Given the description of an element on the screen output the (x, y) to click on. 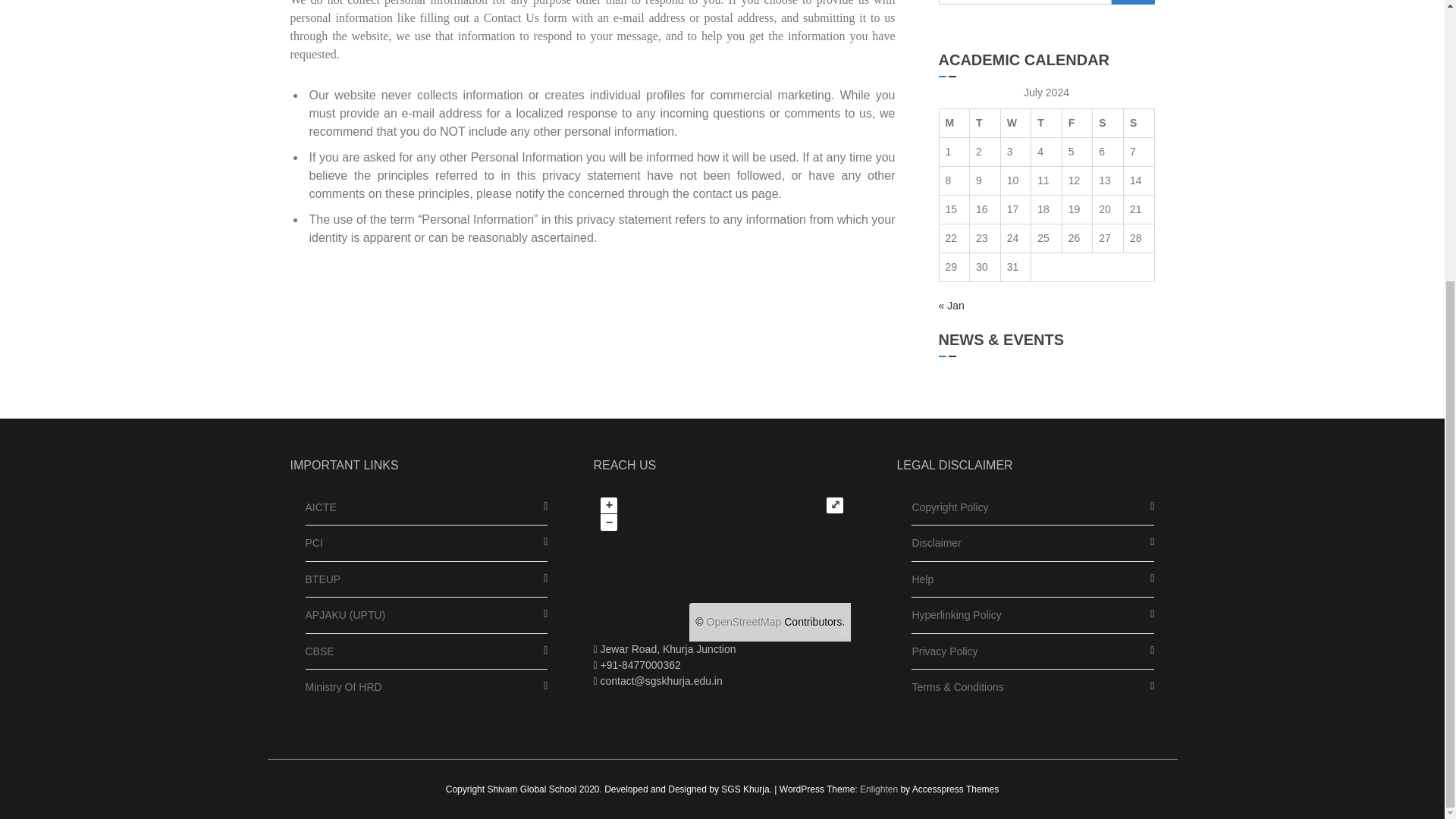
Monday (954, 122)
Saturday (1108, 122)
Sunday (1138, 122)
Toggle full-screen (835, 504)
Thursday (1046, 122)
Search (1133, 2)
Friday (1077, 122)
Search (1133, 2)
Zoom in (608, 504)
Wednesday (1015, 122)
Ministry Of HRD (342, 687)
BTEUP (322, 579)
Search (1133, 2)
Zoom out (608, 522)
Tuesday (985, 122)
